Given the description of an element on the screen output the (x, y) to click on. 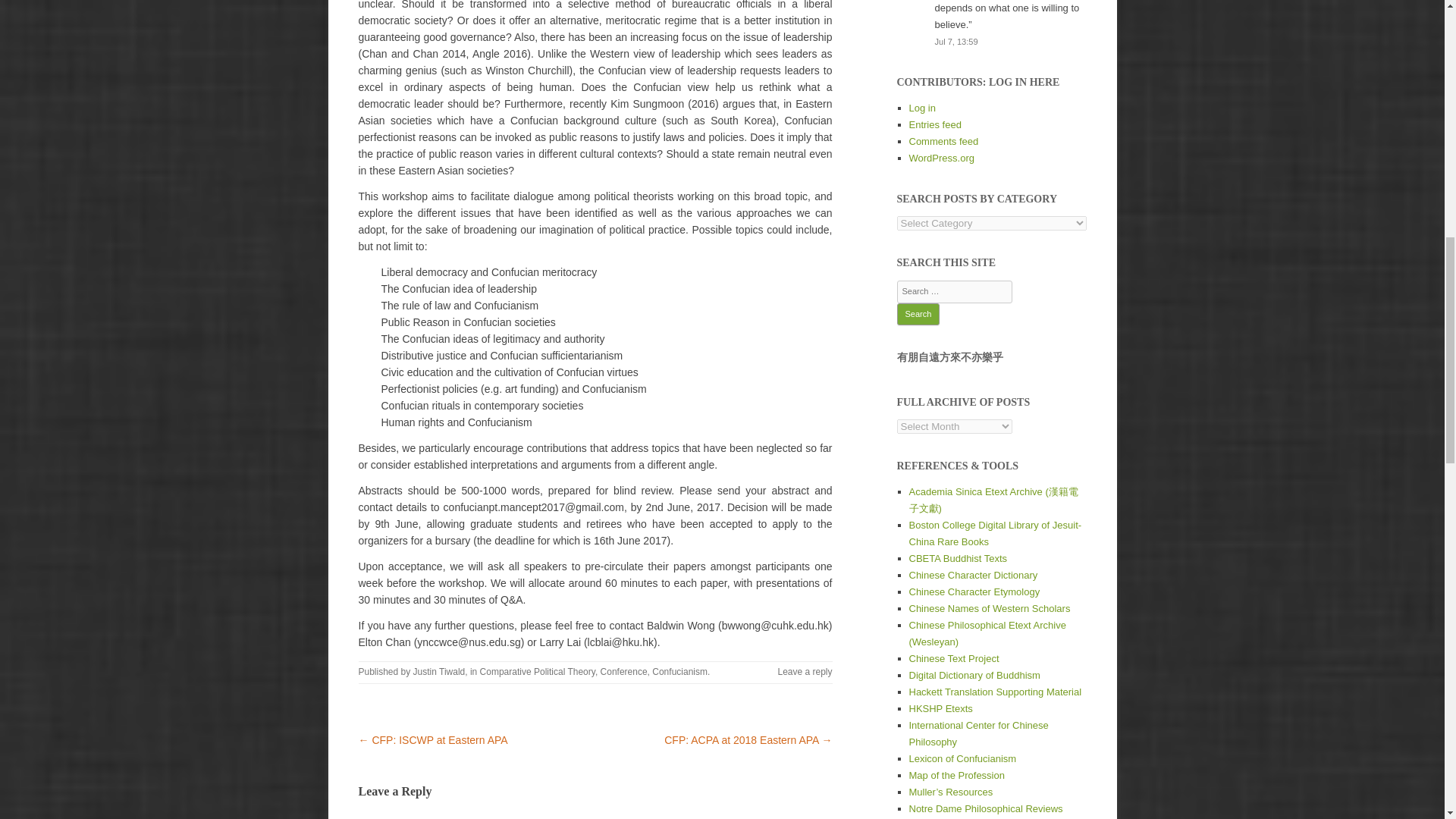
WordPress.org (941, 157)
Entries feed (934, 124)
View all posts by Justin Tiwald (439, 671)
Chinese Philosophy: Map of the Profession (956, 775)
Leave a reply (804, 671)
Justin Tiwald (439, 671)
Conference (623, 671)
Chinese Character Etymology (973, 591)
Chinese Character Dictionary (972, 574)
Search (917, 314)
Confucianism (679, 671)
Comments feed (943, 141)
CBETA Buddhist Texts (957, 558)
Log in (921, 107)
Boston College Digital Library of Jesuit-China Rare Books (994, 533)
